Given the description of an element on the screen output the (x, y) to click on. 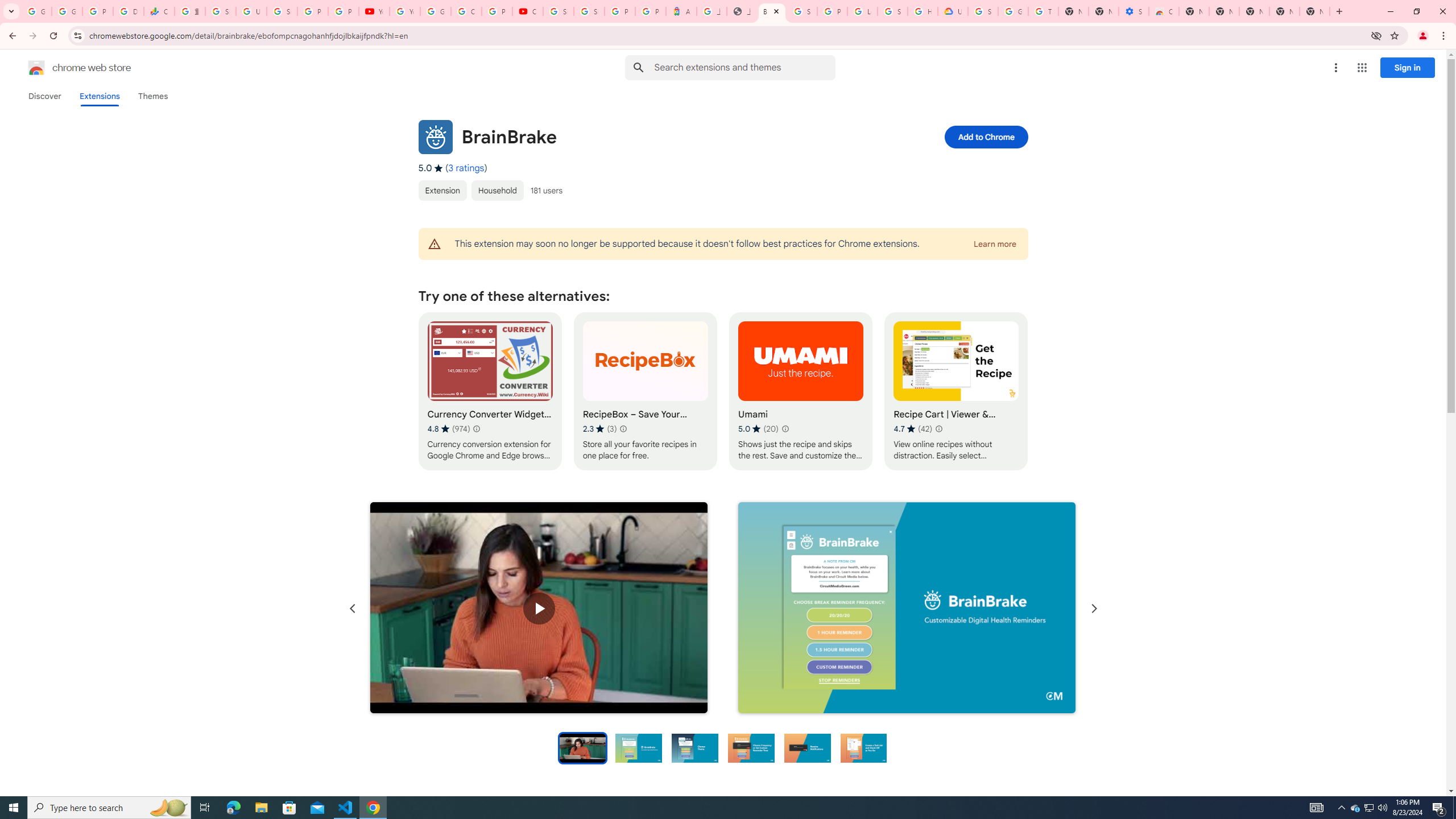
YouTube (404, 11)
Average rating 4.8 out of 5 stars. 974 ratings. (448, 428)
Google Account Help (434, 11)
Sign in - Google Accounts (220, 11)
Item video thumbnail (582, 747)
Currency Converter Widget - Exchange Rates (489, 391)
Create your Google Account (465, 11)
New Tab (1314, 11)
Turn cookies on or off - Computer - Google Account Help (1042, 11)
